Given the description of an element on the screen output the (x, y) to click on. 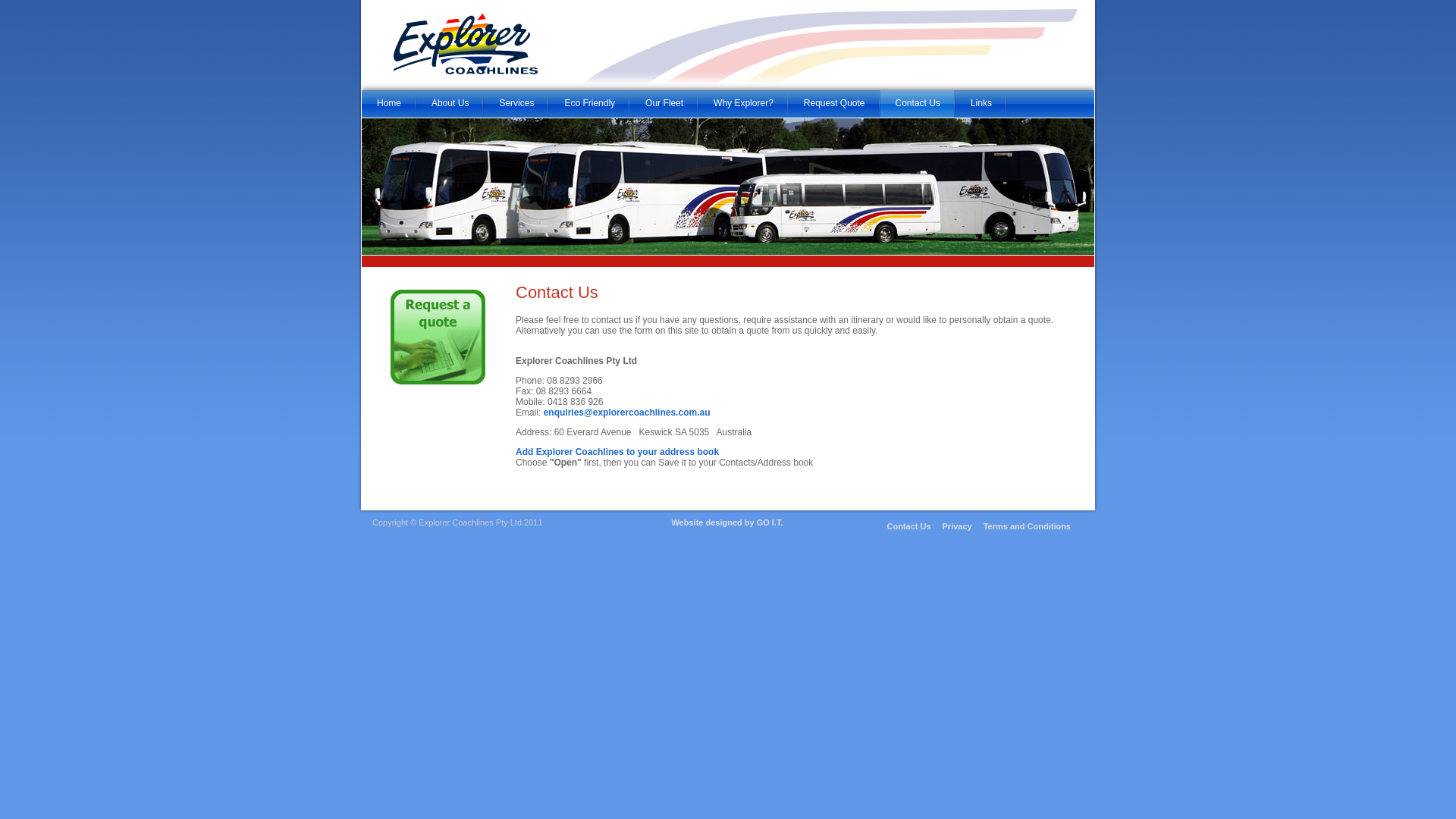
Why Explorer? Element type: text (743, 103)
Our Fleet Element type: text (664, 103)
About Us Element type: text (449, 103)
Links Element type: text (981, 103)
Services Element type: text (516, 103)
Contact Us Element type: text (917, 103)
Privacy Element type: text (957, 525)
Contact Us Element type: text (908, 525)
Request Quote Element type: text (834, 103)
enquiries@explorercoachlines.com.au Element type: text (626, 412)
Eco Friendly Element type: text (589, 103)
Terms and Conditions Element type: text (1026, 525)
Add Explorer Coachlines to your address book Element type: text (616, 451)
Website designed by GO I.T. Element type: text (726, 522)
Home Element type: text (388, 103)
